Given the description of an element on the screen output the (x, y) to click on. 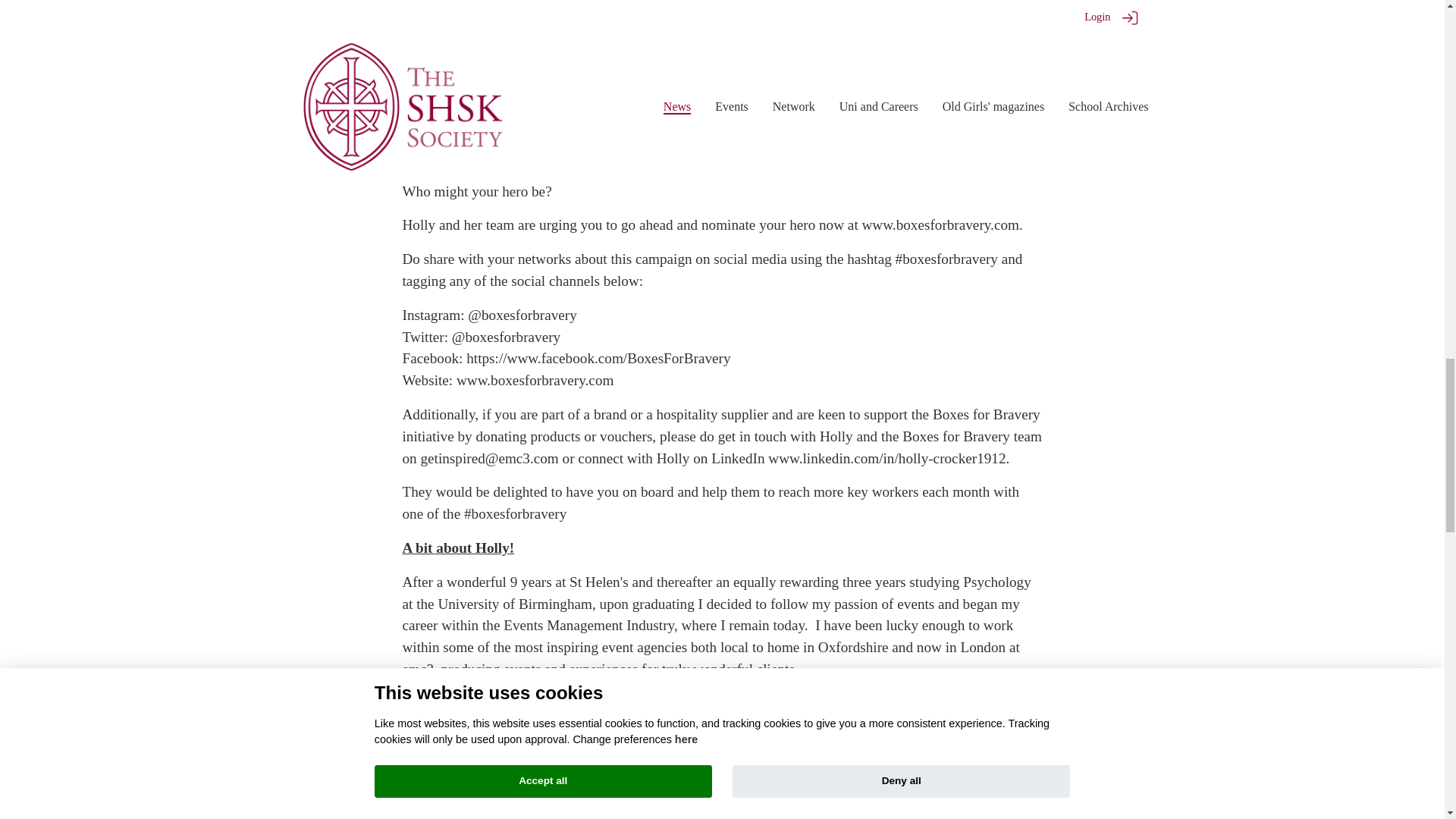
emc3 (417, 668)
www.boxesforbravery.com (534, 380)
www.boxesforbravery.com (940, 224)
